Given the description of an element on the screen output the (x, y) to click on. 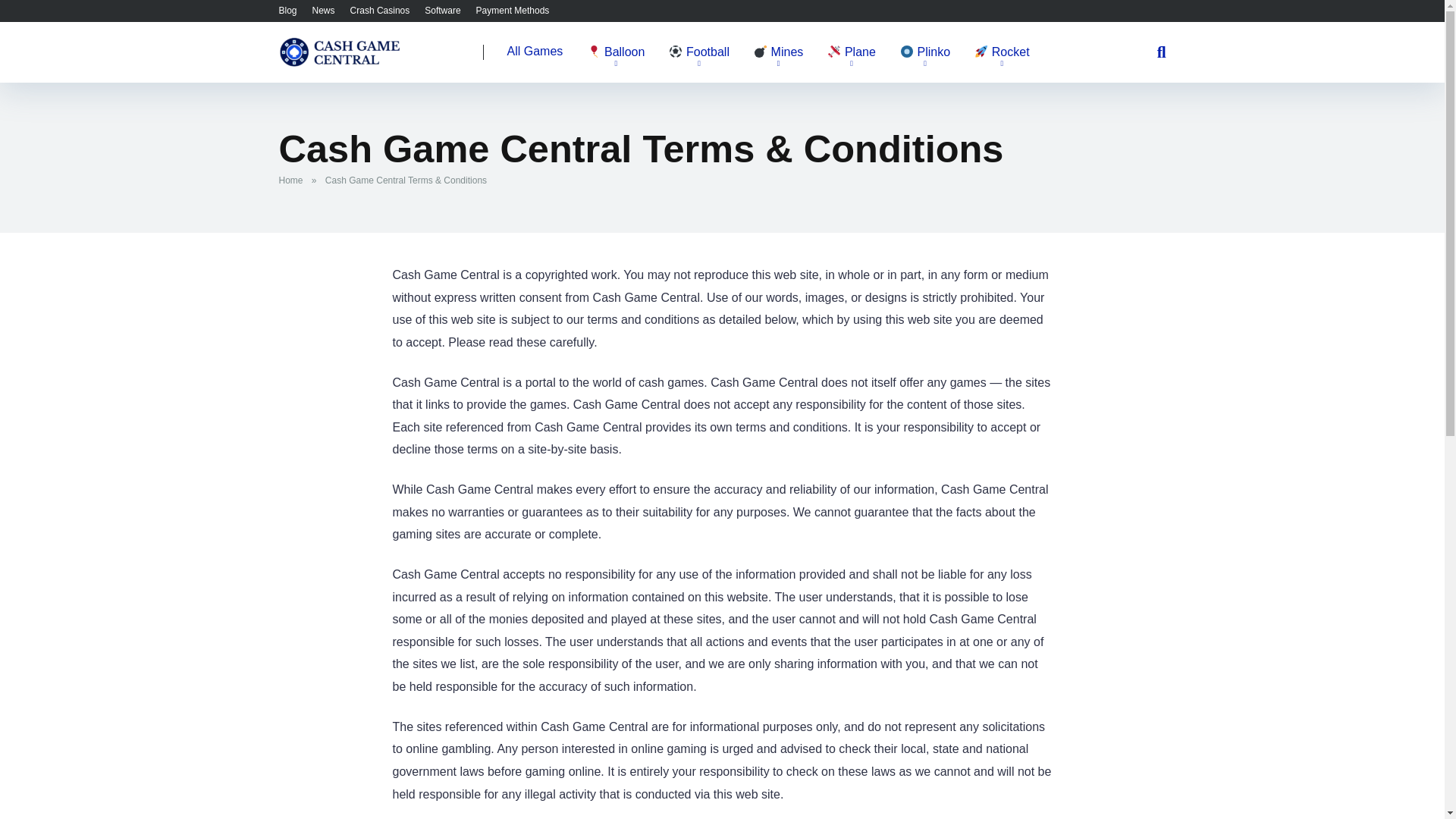
Plinko (925, 52)
News (323, 9)
Football (698, 52)
Plane (851, 52)
Blog (288, 9)
Rocket (1001, 52)
Mines (778, 52)
Cash Game Central (340, 46)
Balloon (615, 52)
All Games (535, 52)
Crash Casinos (380, 9)
Software (442, 9)
Payment Methods (513, 9)
